Given the description of an element on the screen output the (x, y) to click on. 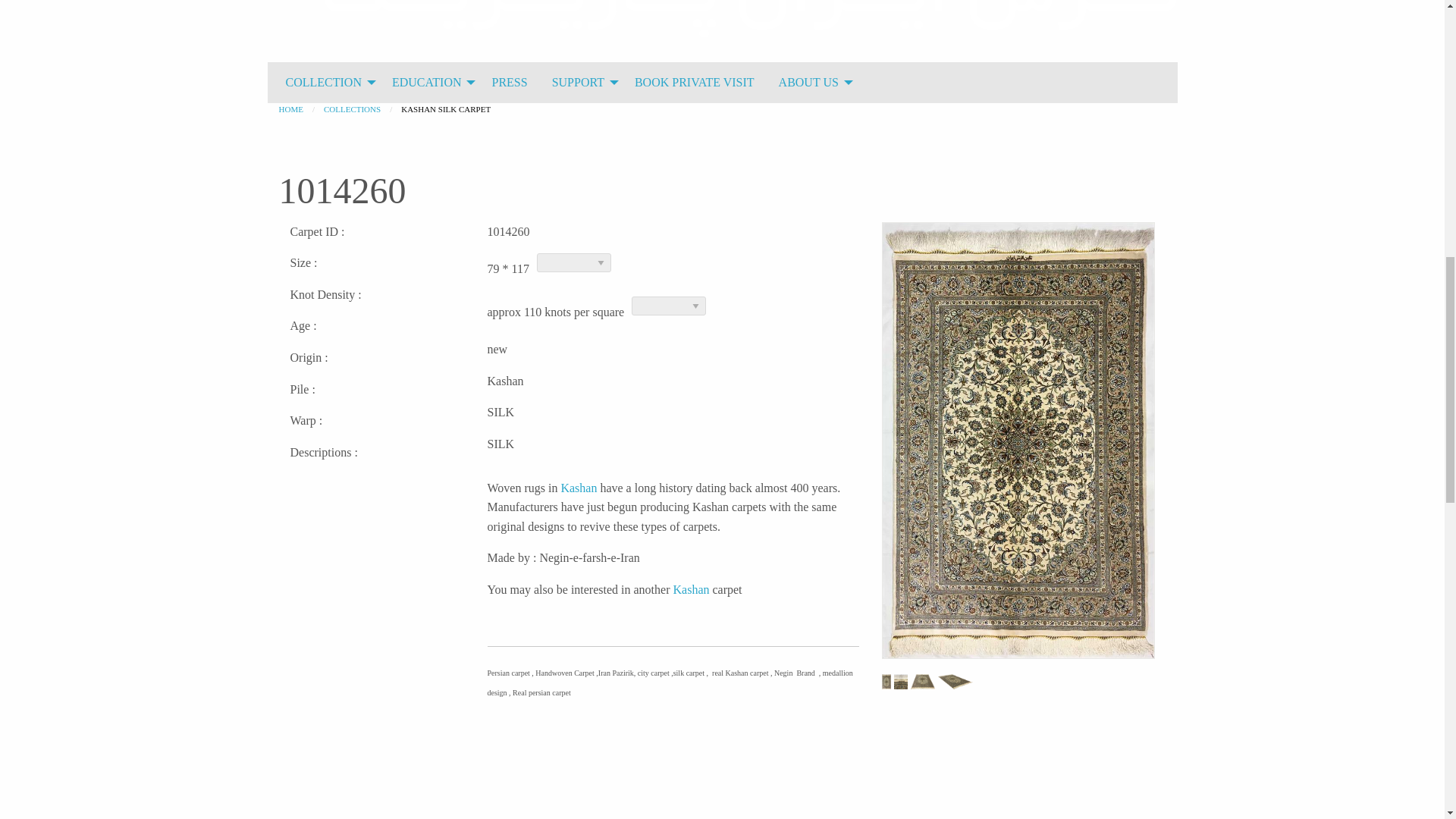
EDUCATION (430, 82)
COLLECTION (325, 82)
